Given the description of an element on the screen output the (x, y) to click on. 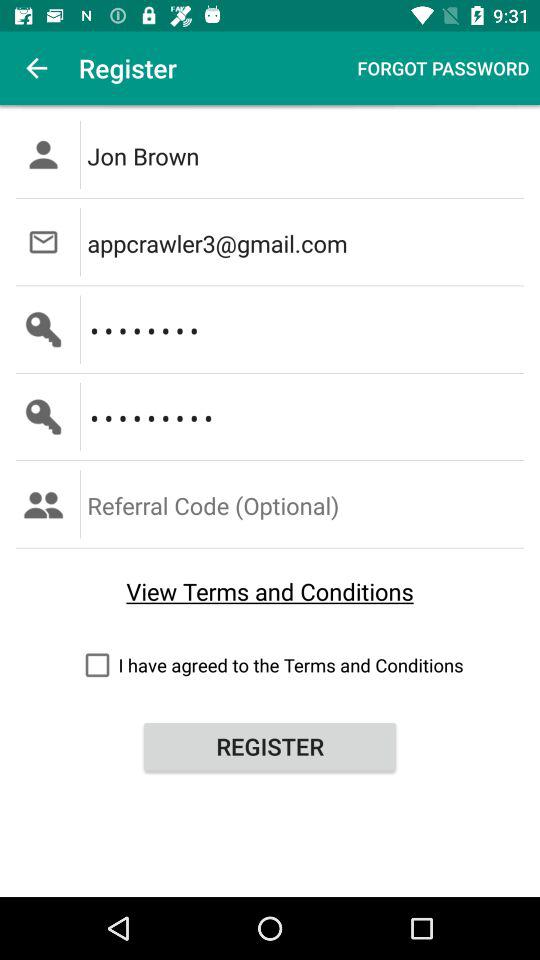
turn off the icon next to the register item (36, 68)
